Given the description of an element on the screen output the (x, y) to click on. 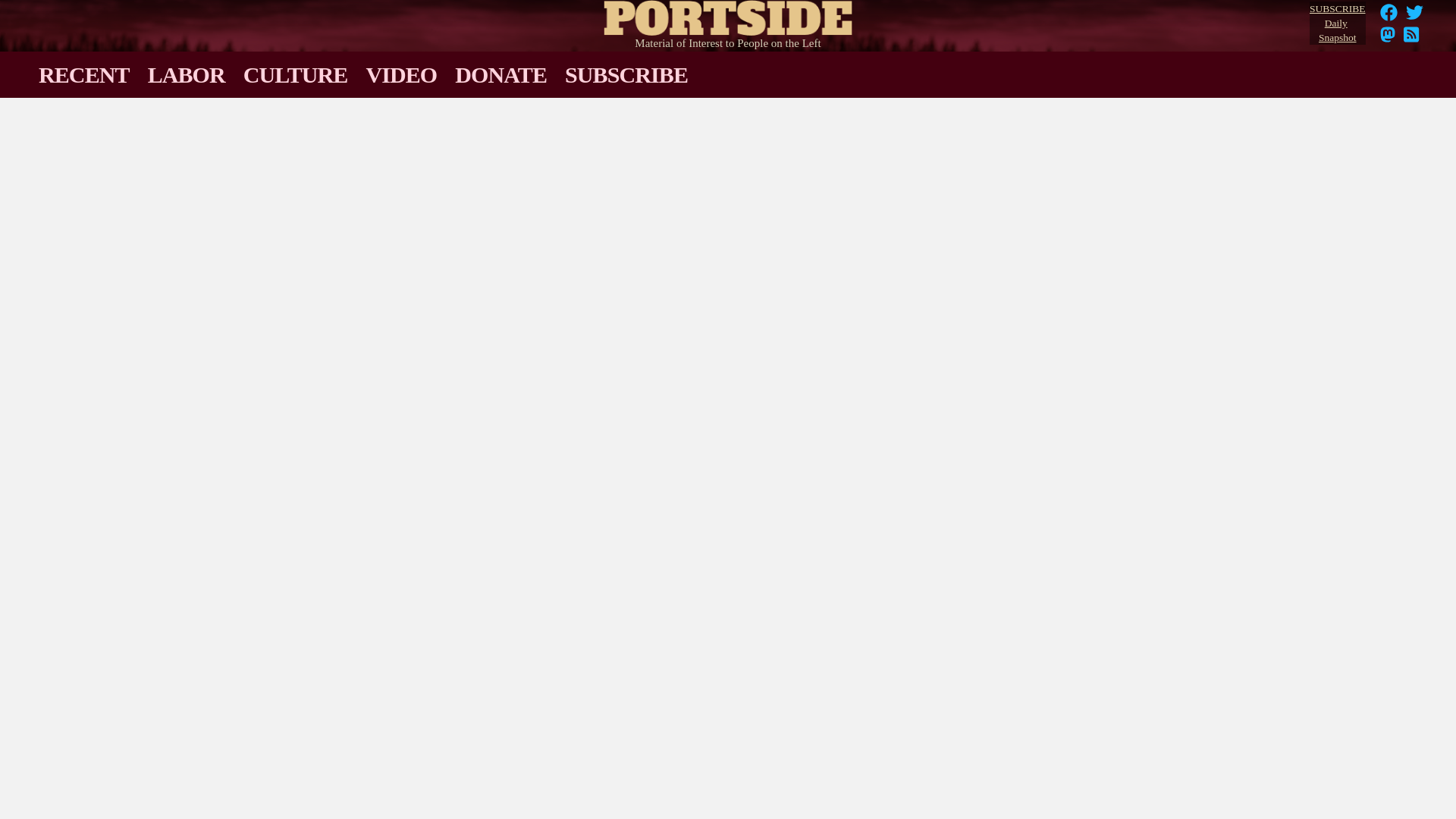
Follow Portside on Mastodon (1387, 39)
Mastodon (1387, 39)
RSS (1411, 39)
Twitter (1336, 23)
Follow Portside's RSS feed (1414, 11)
Follow Portside on Facebook (1411, 39)
Home (1388, 16)
Twitter (727, 14)
Facebook (1414, 16)
